Given the description of an element on the screen output the (x, y) to click on. 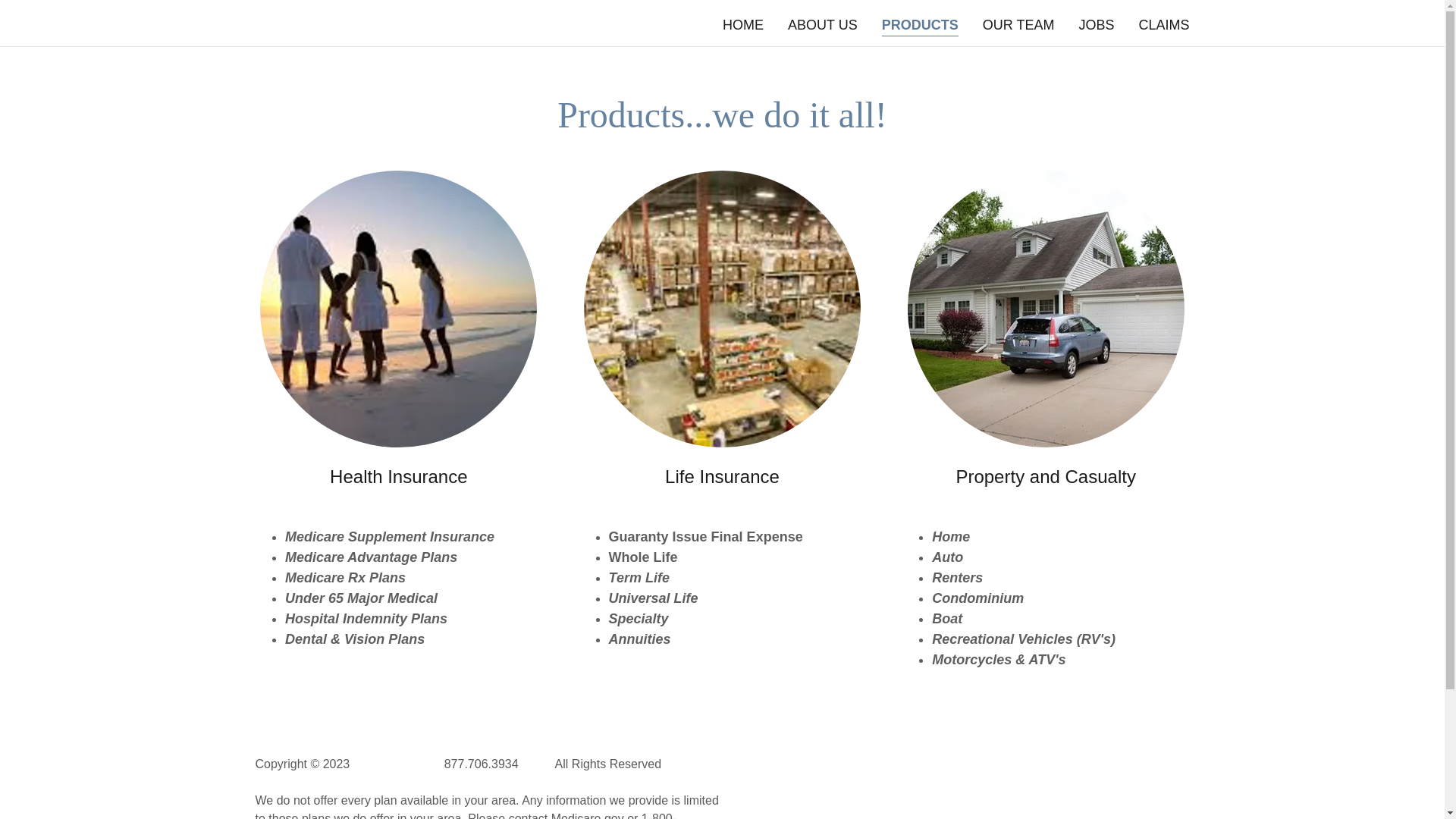
PRODUCTS (920, 25)
JOBS (1096, 24)
HOME (742, 24)
CLAIMS (1163, 24)
OUR TEAM (1018, 24)
ABOUT US (822, 24)
